Given the description of an element on the screen output the (x, y) to click on. 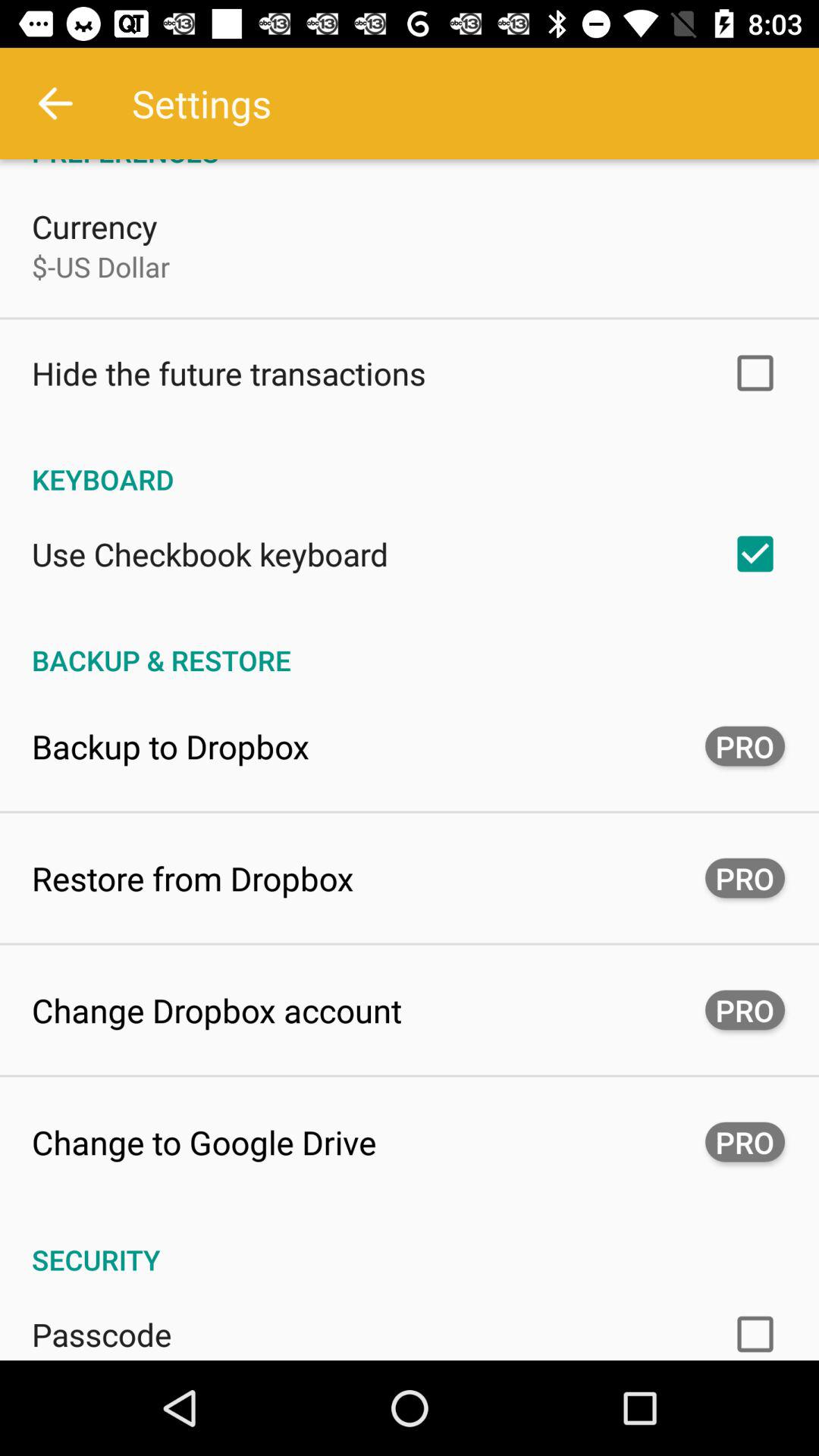
jump to currency app (94, 225)
